Given the description of an element on the screen output the (x, y) to click on. 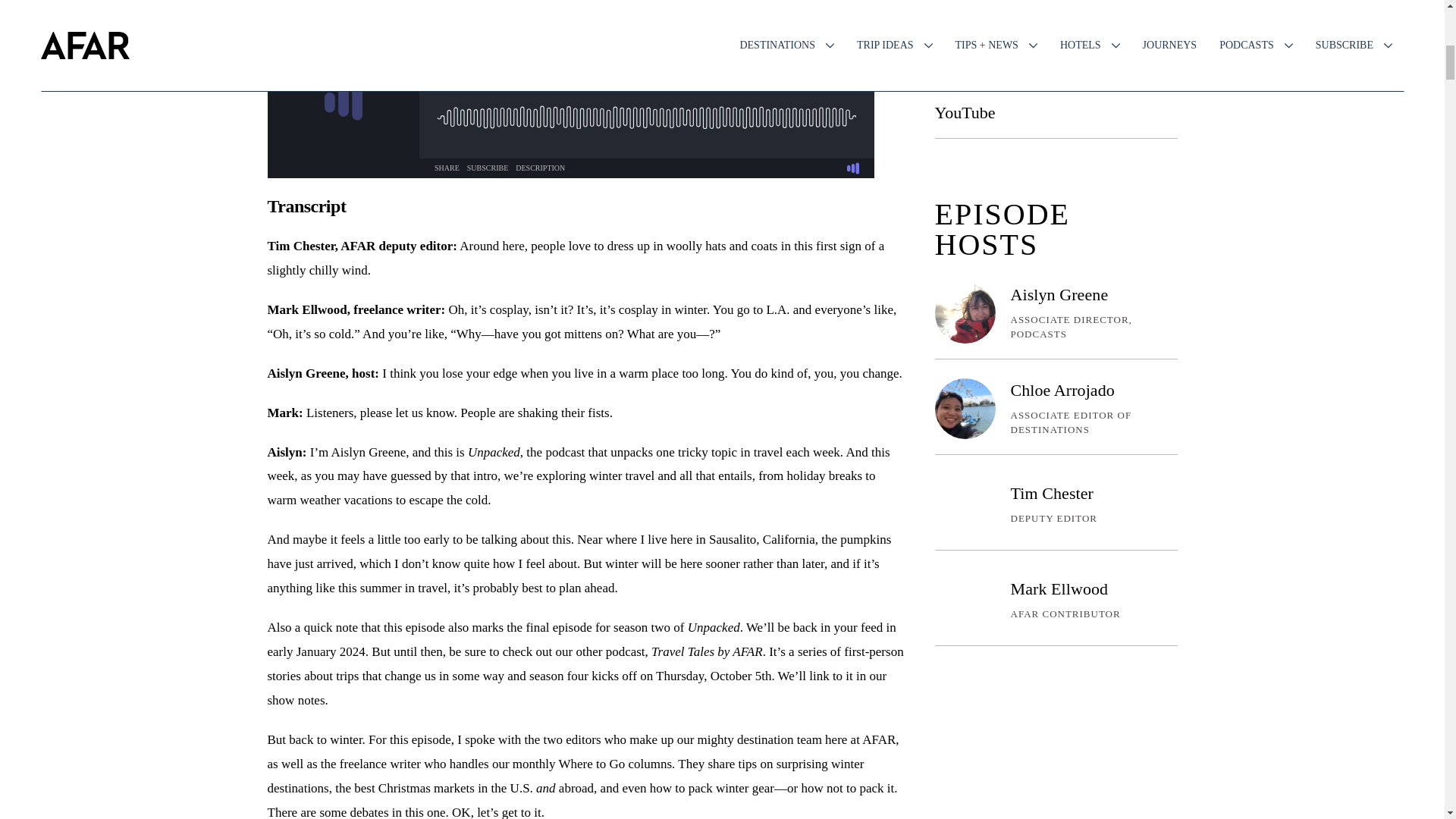
Google Podcasts (989, 12)
Spotify (959, 62)
YouTube (964, 112)
